Given the description of an element on the screen output the (x, y) to click on. 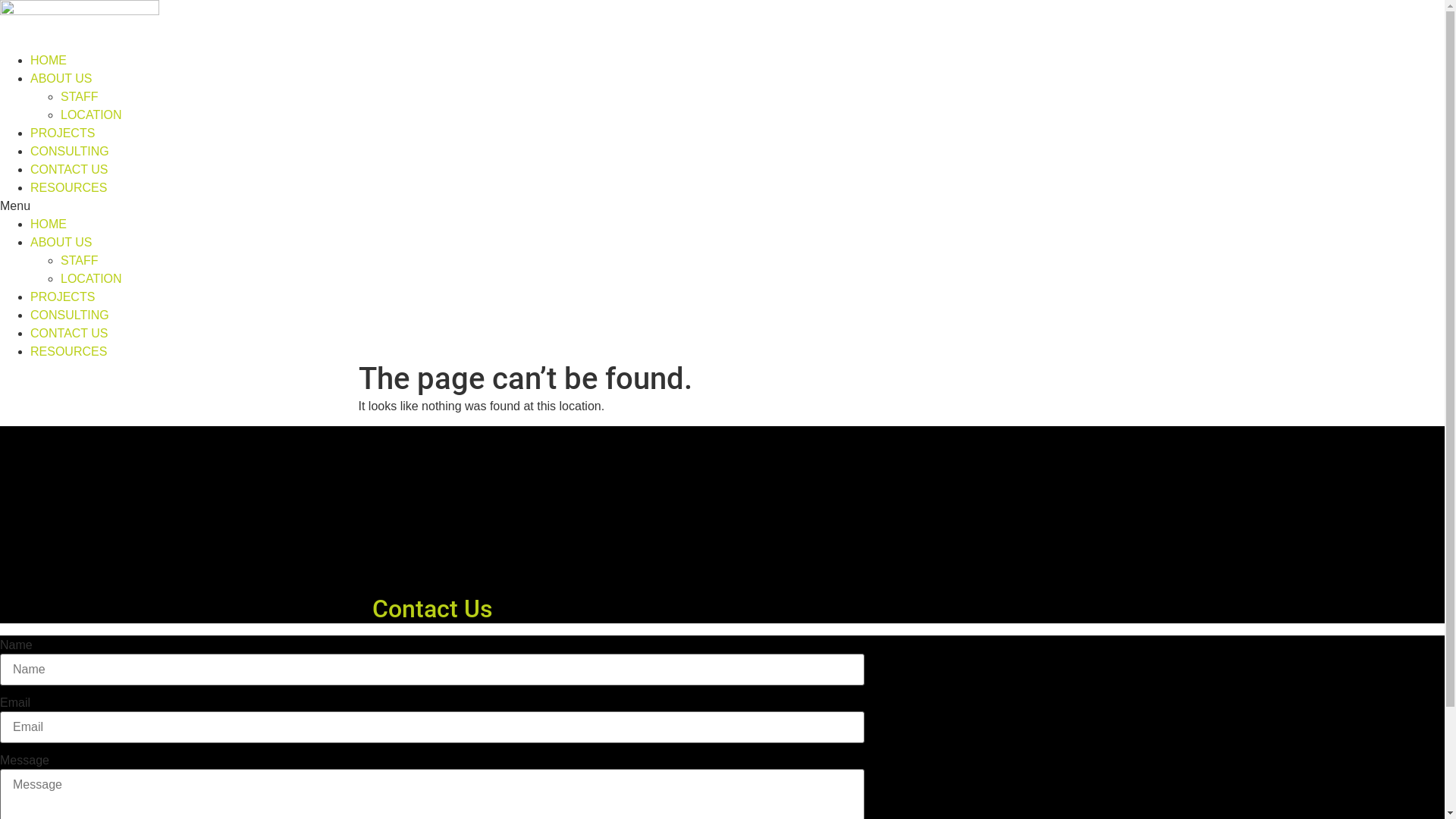
STAFF Element type: text (78, 260)
ABOUT US Element type: text (61, 78)
RESOURCES Element type: text (68, 351)
PROJECTS Element type: text (62, 296)
LOCATION Element type: text (91, 114)
STAFF Element type: text (78, 96)
CONSULTING Element type: text (69, 150)
HOME Element type: text (48, 223)
CONTACT US Element type: text (69, 332)
CONTACT US Element type: text (69, 169)
LOCATION Element type: text (91, 278)
ABOUT US Element type: text (61, 241)
PROJECTS Element type: text (62, 132)
HOME Element type: text (48, 59)
CONSULTING Element type: text (69, 314)
RESOURCES Element type: text (68, 187)
